Given the description of an element on the screen output the (x, y) to click on. 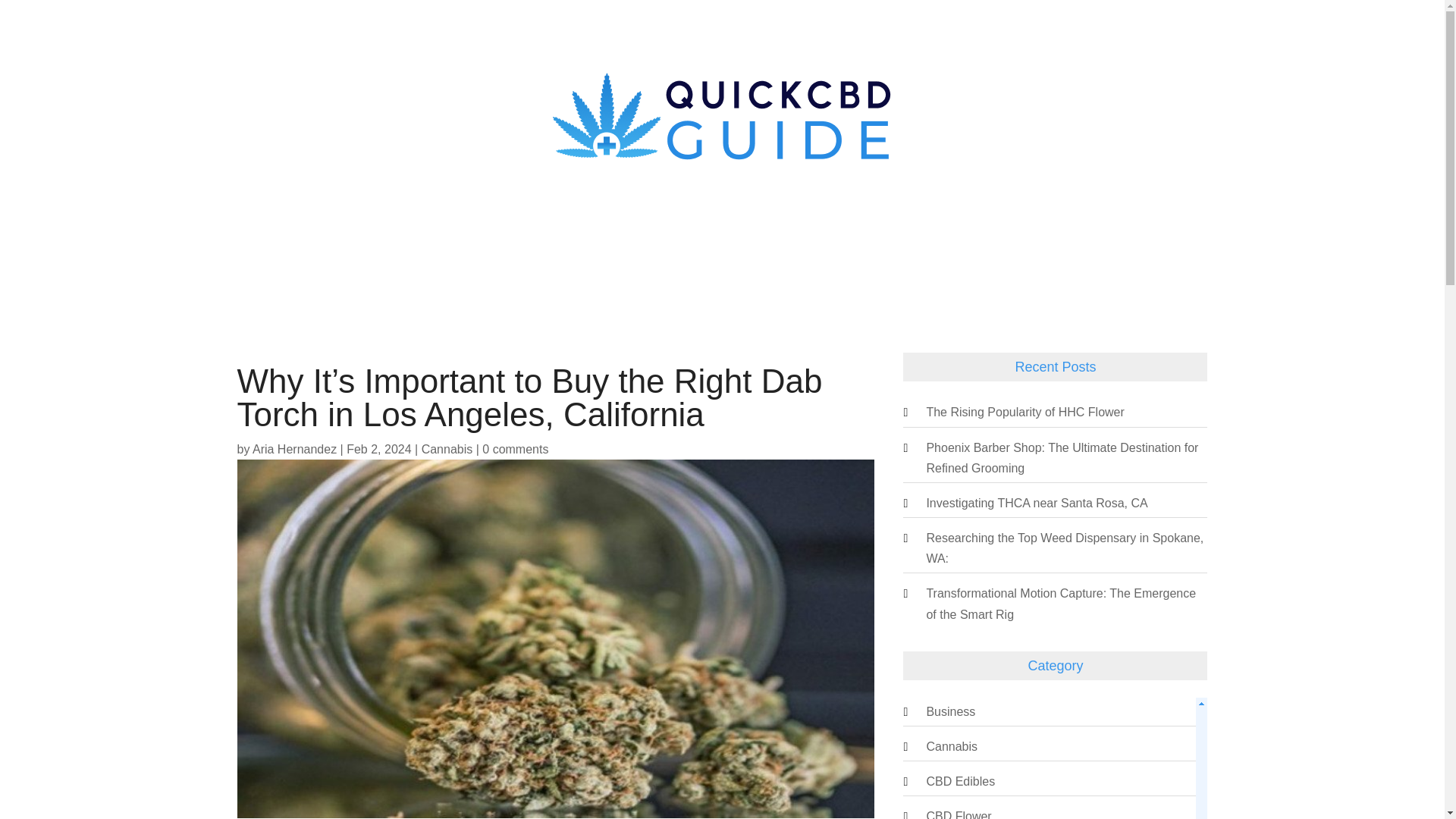
Posts by Aria Hernandez (293, 449)
Cannabis (447, 449)
CBD Edibles (960, 780)
CBD Flower (958, 814)
Cannabis (951, 746)
Aria Hernandez (293, 449)
The Rising Popularity of HHC Flower (1025, 411)
